Given the description of an element on the screen output the (x, y) to click on. 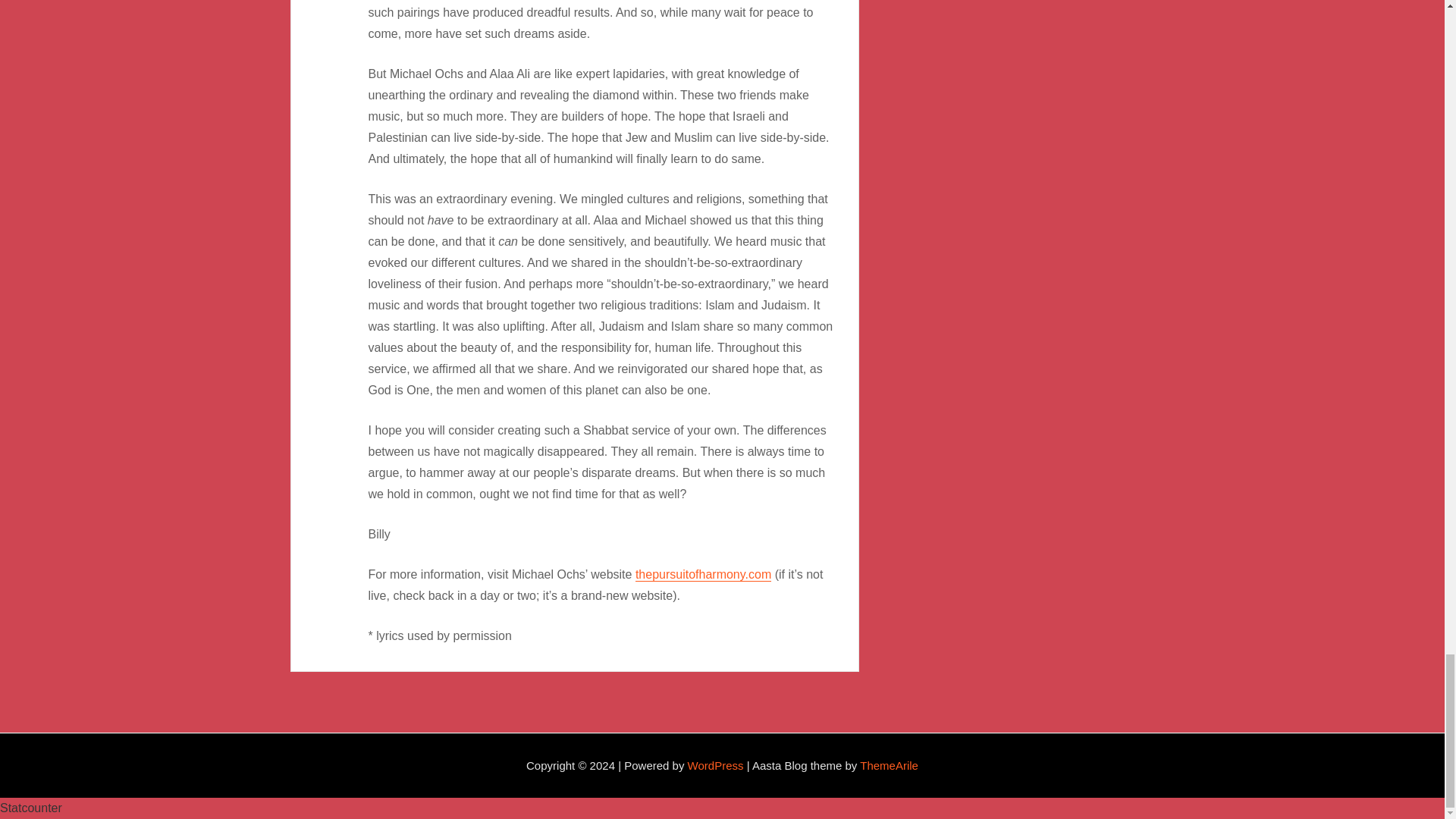
Statcounter (31, 807)
The Pursuit of Harmony (702, 574)
ThemeArile (889, 765)
thepursuitofharmony.com (702, 574)
WordPress (715, 765)
